Given the description of an element on the screen output the (x, y) to click on. 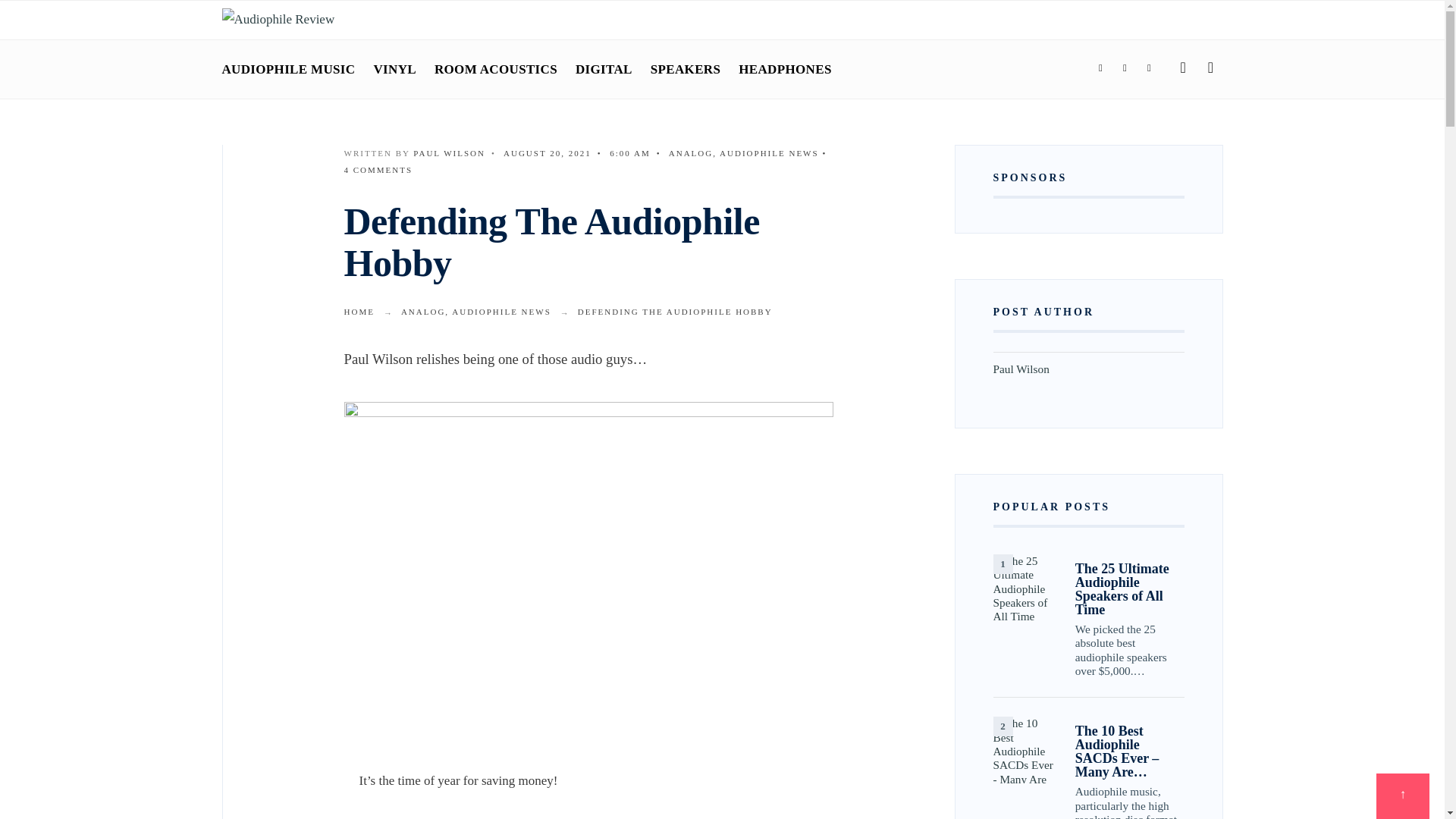
ANALOG (690, 153)
DIGITAL (603, 68)
Twitter (1124, 68)
ANALOG (423, 311)
HOME (358, 311)
AUDIOPHILE NEWS (501, 311)
PAUL WILSON (448, 153)
The 10 Best Audiophile SACDs Ever - Many Are Out Of Print (1025, 749)
SPEAKERS (685, 68)
AUDIOPHILE NEWS (768, 153)
Paul Wilson (448, 153)
VINYL (394, 68)
HEADPHONES (784, 68)
The 25 Ultimate Audiophile Speakers of All Time (1025, 587)
ROOM ACOUSTICS (495, 68)
